Given the description of an element on the screen output the (x, y) to click on. 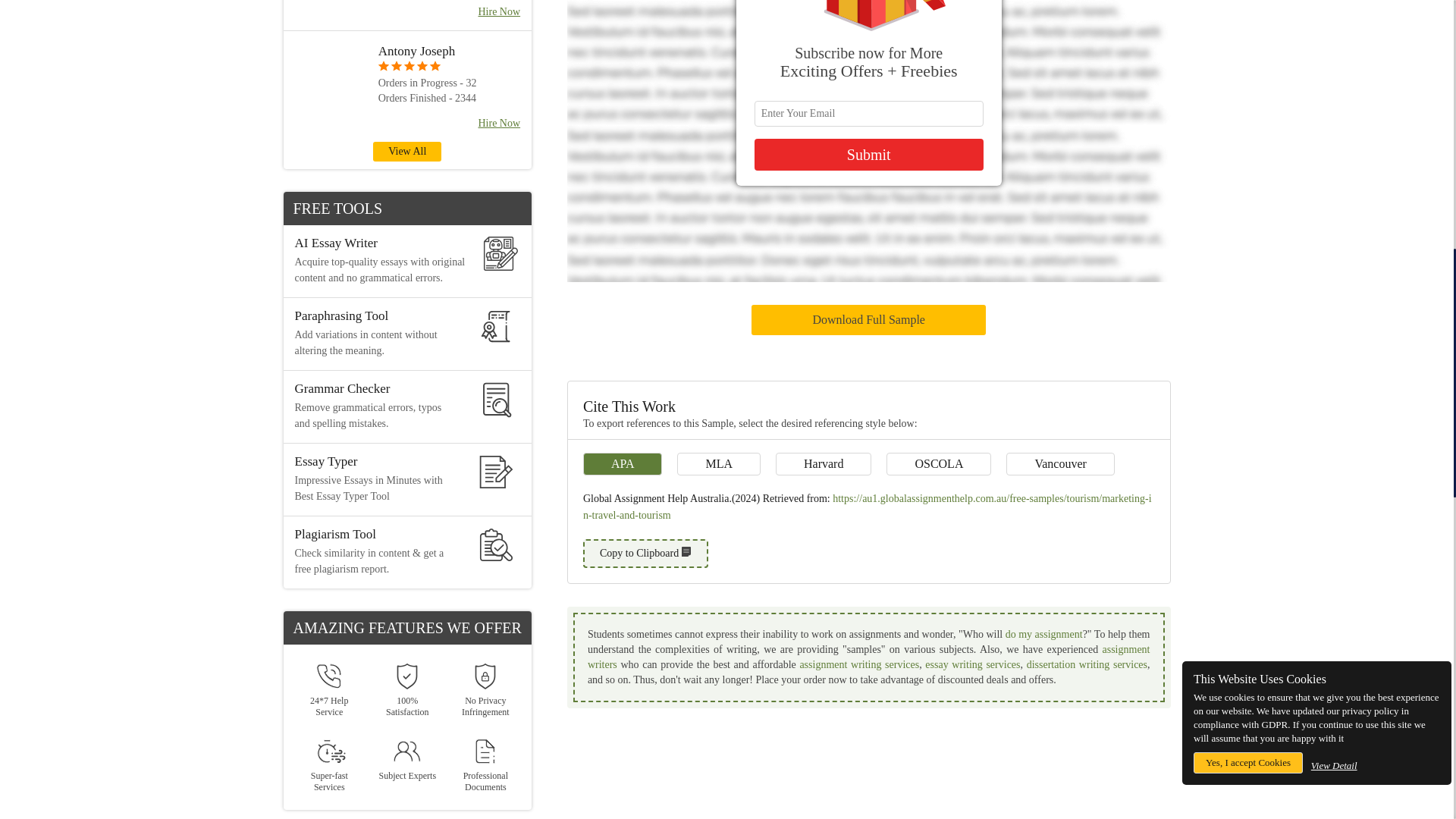
Core concepts of marketing (868, 207)
